Given the description of an element on the screen output the (x, y) to click on. 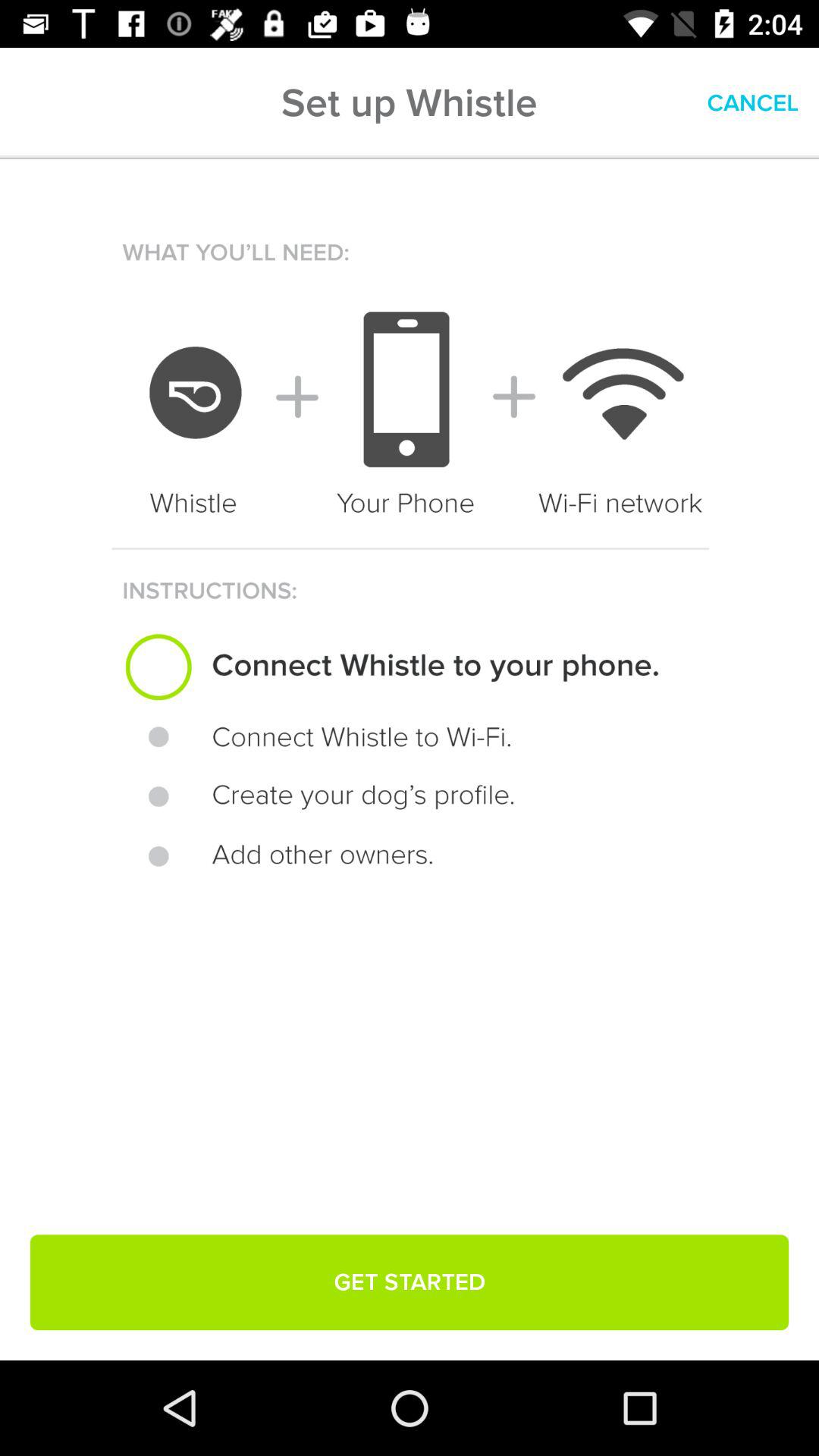
turn off get started item (409, 1282)
